Given the description of an element on the screen output the (x, y) to click on. 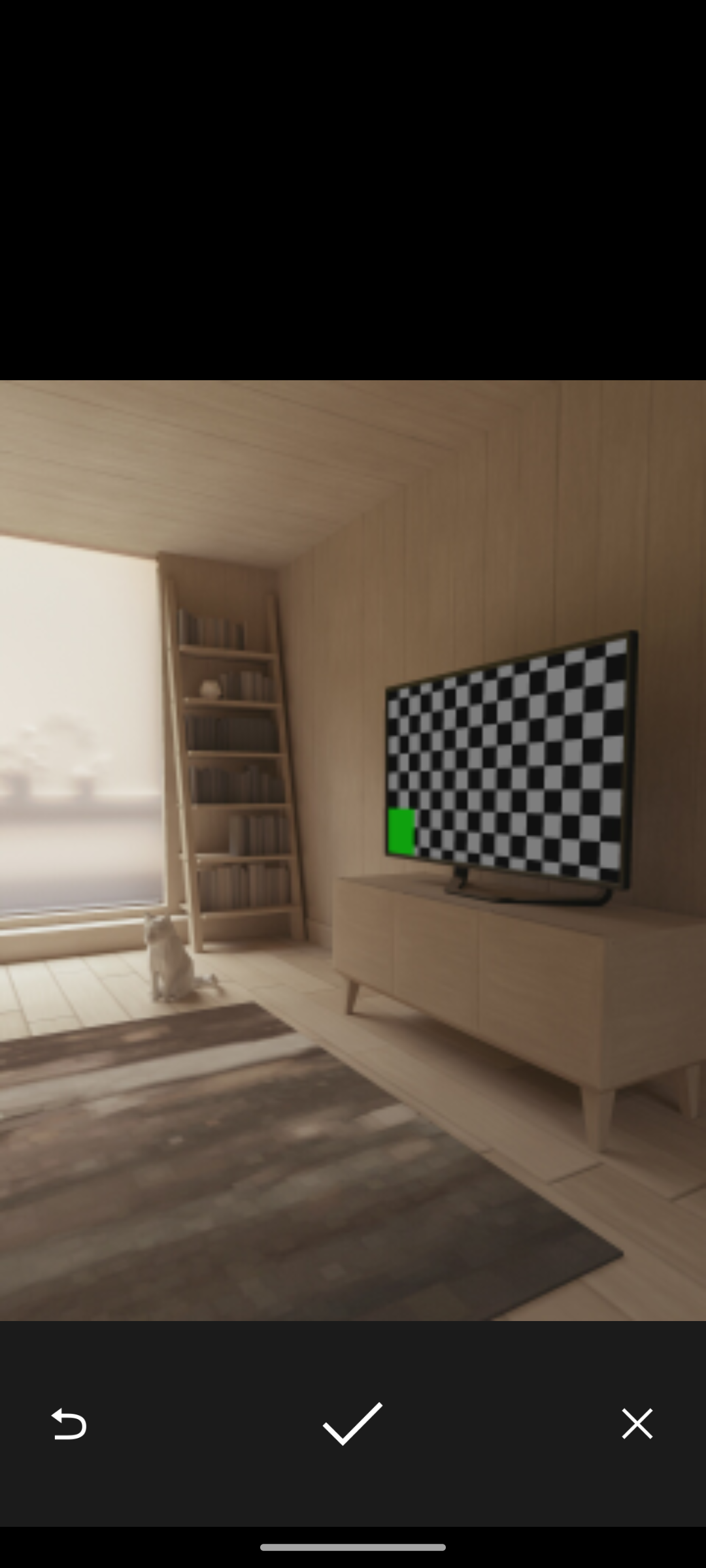
Done (352, 1423)
Retake (68, 1423)
Cancel (637, 1423)
